Given the description of an element on the screen output the (x, y) to click on. 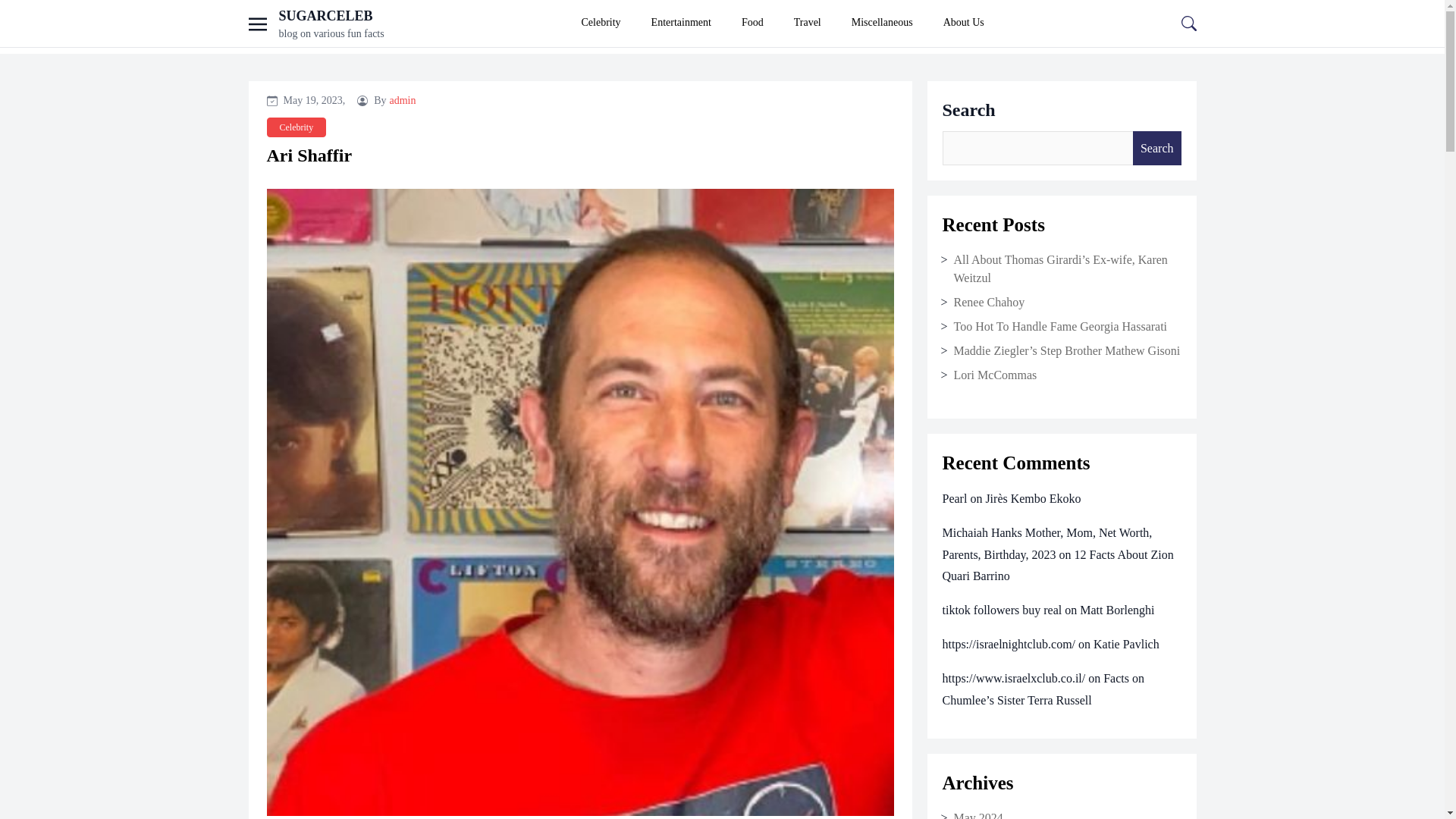
SUGARCELEB (325, 15)
Celebrity (296, 127)
Travel (806, 22)
Food (752, 22)
Celebrity (600, 22)
Miscellaneous (881, 22)
Entertainment (681, 22)
admin (403, 100)
About Us (963, 22)
